Given the description of an element on the screen output the (x, y) to click on. 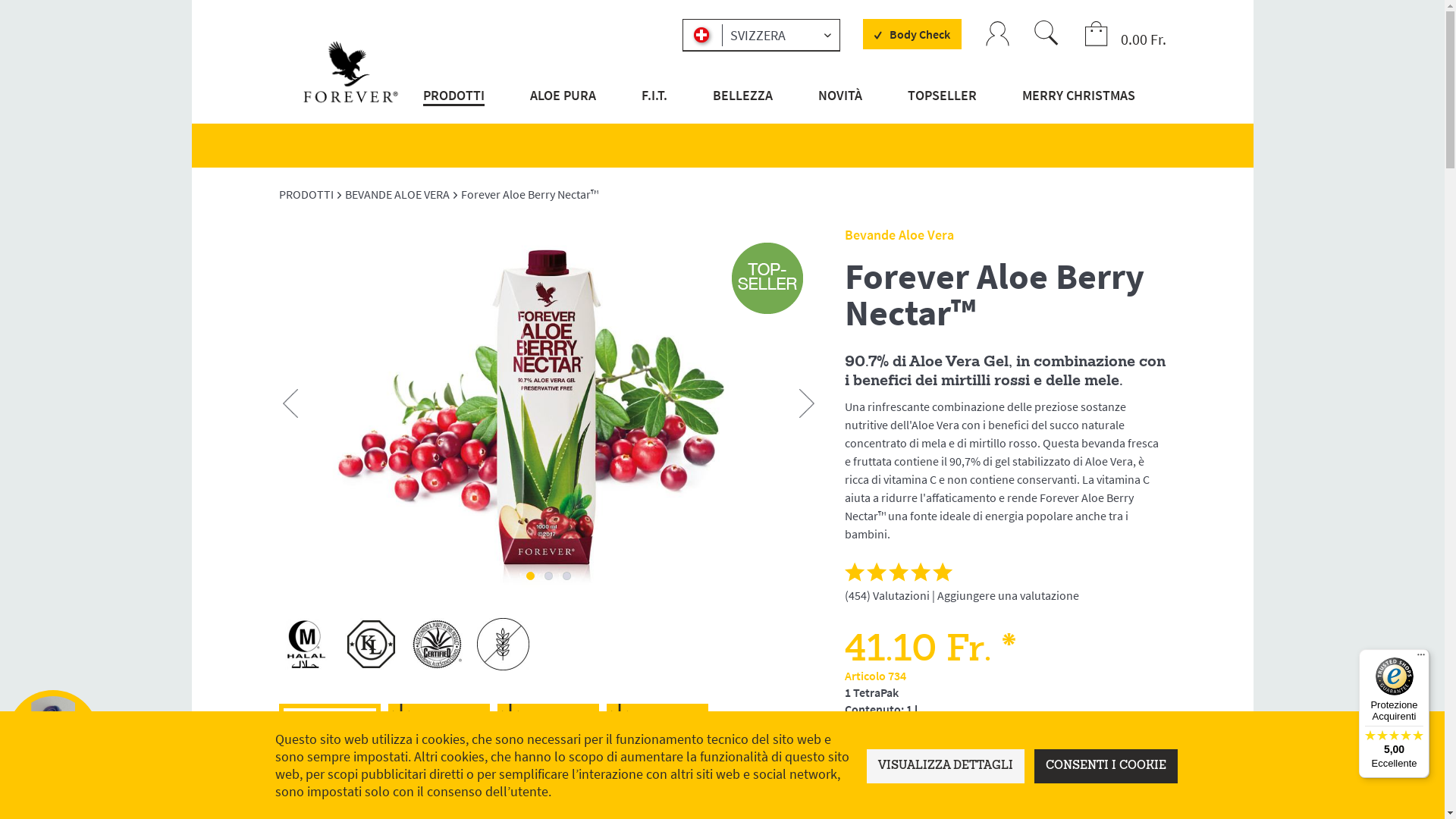
Body Check Element type: text (911, 33)
Carrello Element type: hover (1095, 34)
  Element type: text (548, 575)
F.I.T. Element type: text (654, 104)
(454) Valutazioni | Aggiungere una valutazione Element type: text (961, 581)
  Element type: text (566, 575)
TOPSELLER Element type: text (941, 104)
Il mio conto Element type: hover (997, 34)
Forever Living Products Switzerland - Torna alla Home Element type: hover (350, 69)
PRODOTTI Element type: text (308, 194)
PRODOTTI Element type: text (455, 104)
BEVANDE ALOE VERA Element type: text (398, 194)
ALOE PURA Element type: text (562, 104)
BELLEZZA Element type: text (742, 104)
CONSENTI I COOKIE Element type: text (1105, 766)
VISUALIZZA DETTAGLI Element type: text (944, 766)
SVIZZERA Element type: text (760, 34)
  Element type: text (530, 575)
MERRY CHRISTMAS Element type: text (1076, 104)
Bevande Aloe Vera Element type: text (898, 234)
